Given the description of an element on the screen output the (x, y) to click on. 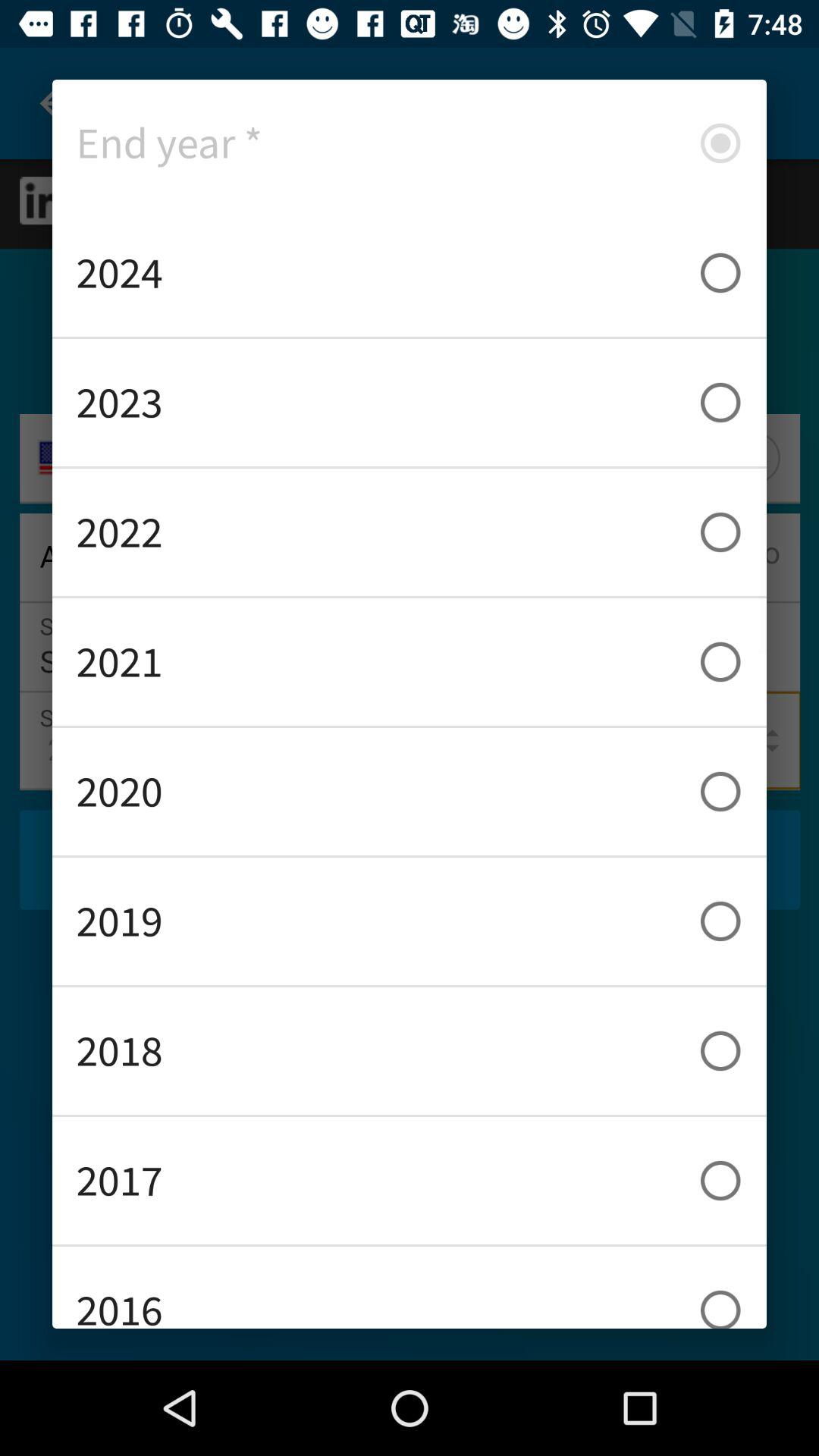
jump to 2018 icon (409, 1050)
